Given the description of an element on the screen output the (x, y) to click on. 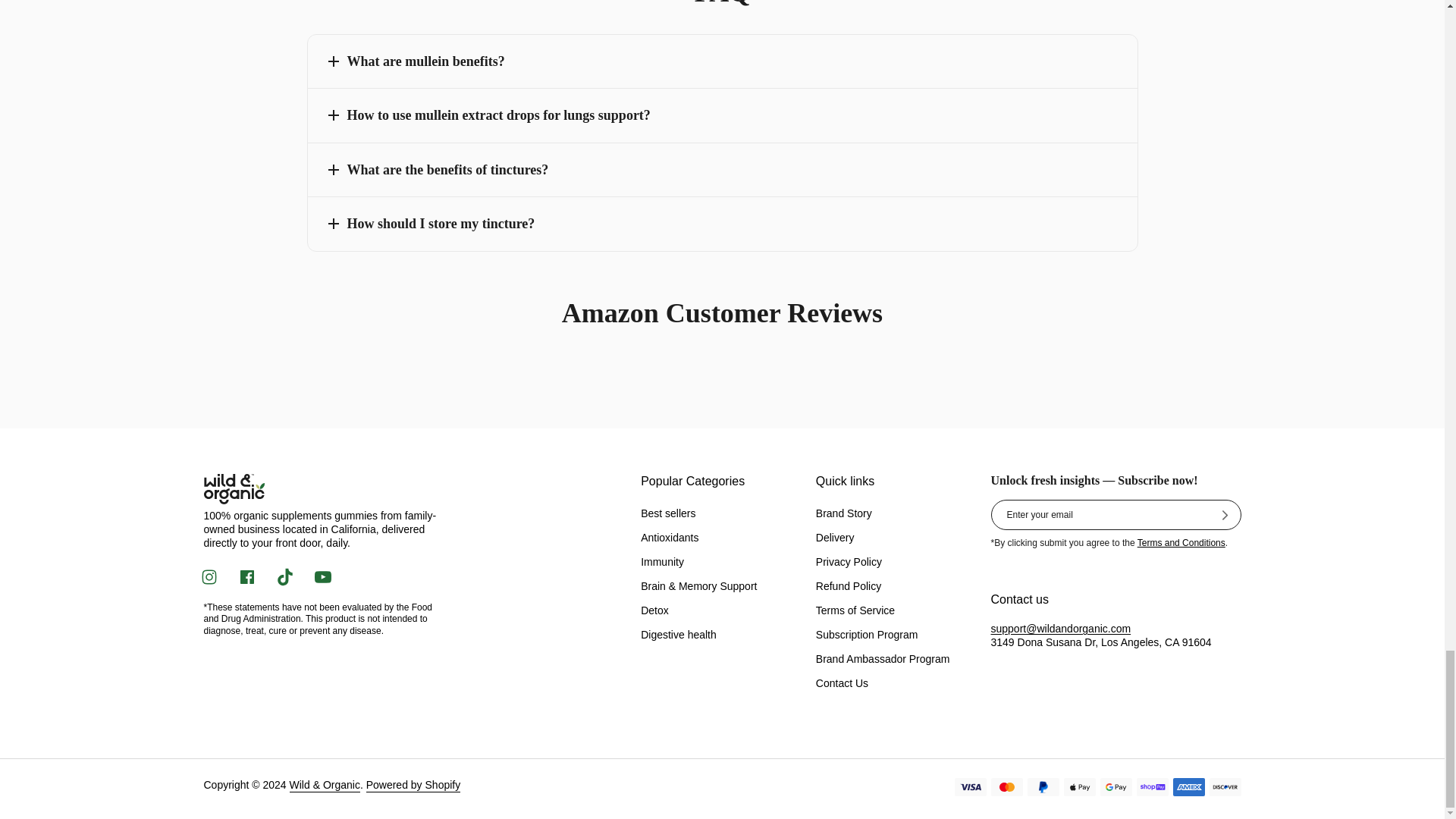
Terms of Service (1181, 542)
